Given the description of an element on the screen output the (x, y) to click on. 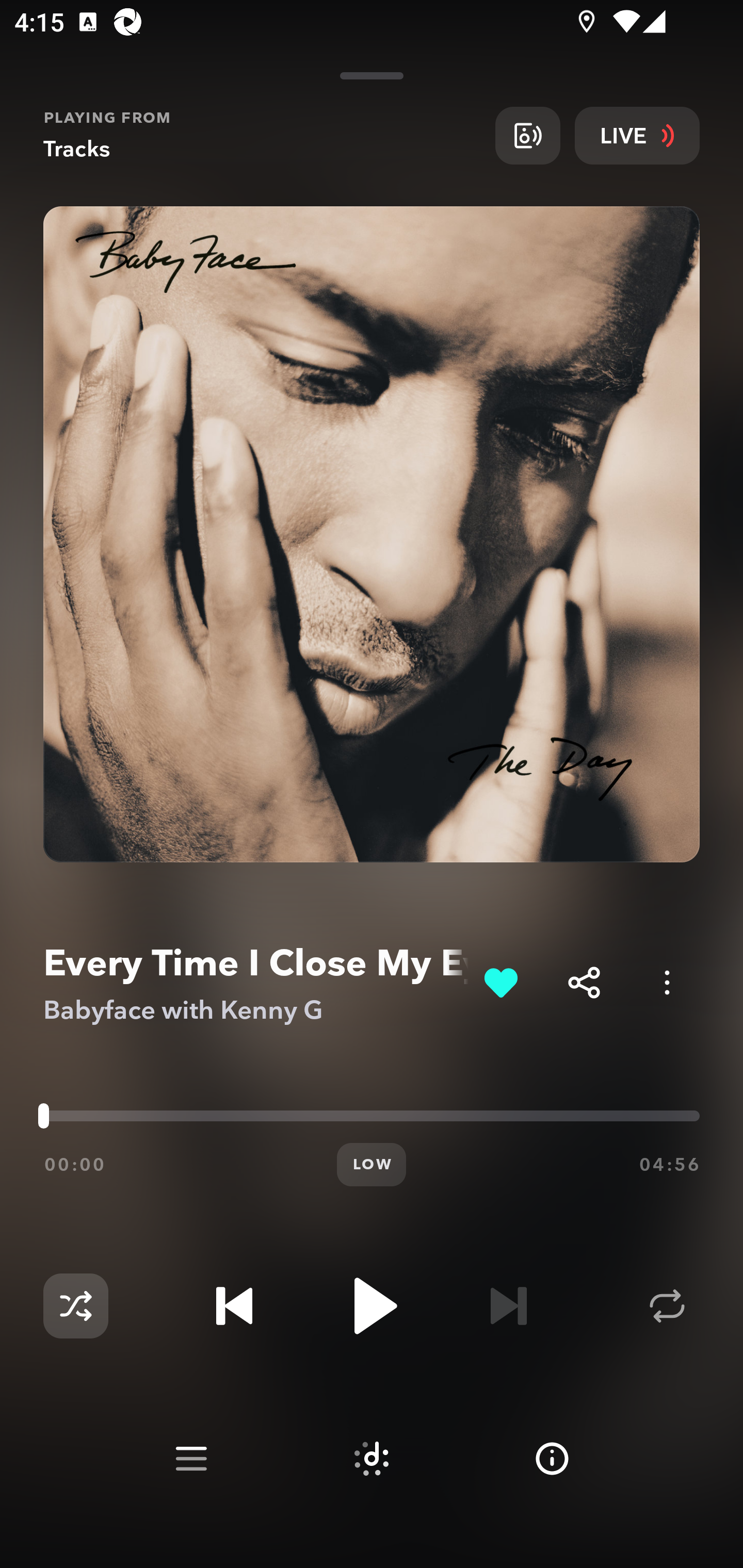
Broadcast (527, 135)
LIVE (637, 135)
PLAYING FROM Tracks (261, 135)
Remove from My Collection (500, 982)
Share (583, 982)
Options (666, 982)
LOW (371, 1164)
Play (371, 1306)
Previous (234, 1306)
Next (508, 1306)
Shuffle enabled (75, 1306)
Repeat Off (666, 1306)
Play queue (191, 1458)
Suggested tracks (371, 1458)
Info (551, 1458)
